Given the description of an element on the screen output the (x, y) to click on. 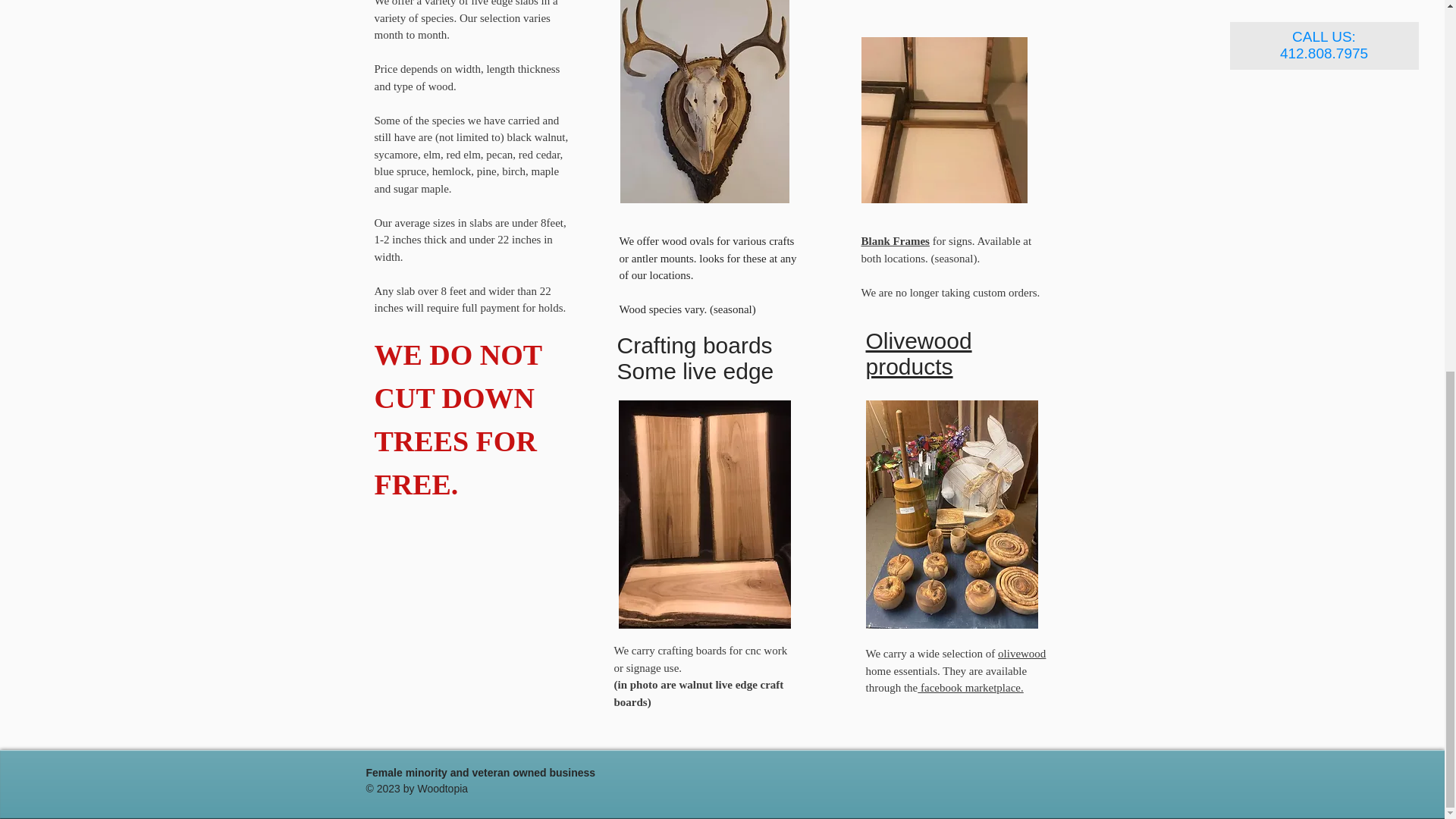
Olivewood products (919, 353)
facebook marketplace. (970, 687)
olivewood (1021, 653)
Blank Frames (895, 241)
